Given the description of an element on the screen output the (x, y) to click on. 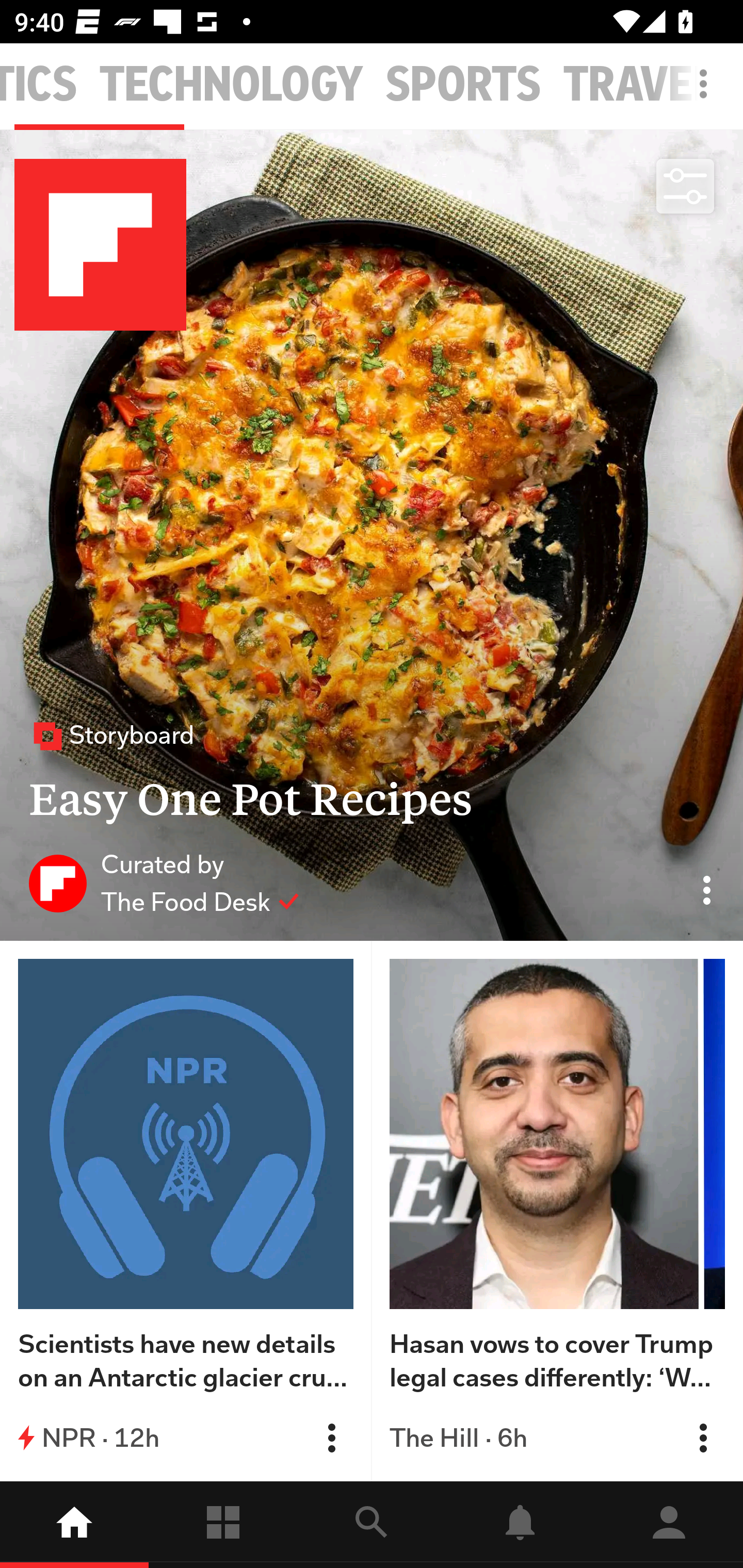
TECHNOLOGY (231, 84)
SPORTS (463, 84)
TRAVEL (638, 84)
More options (706, 93)
Curated by The Food Desk (163, 882)
NPR · 12h Flip into Magazine (185, 1437)
The Hill · 6h Flip into Magazine (557, 1437)
Flip into Magazine (331, 1437)
Flip into Magazine (703, 1437)
home (74, 1524)
Following (222, 1524)
explore (371, 1524)
Notifications (519, 1524)
Profile (668, 1524)
